Given the description of an element on the screen output the (x, y) to click on. 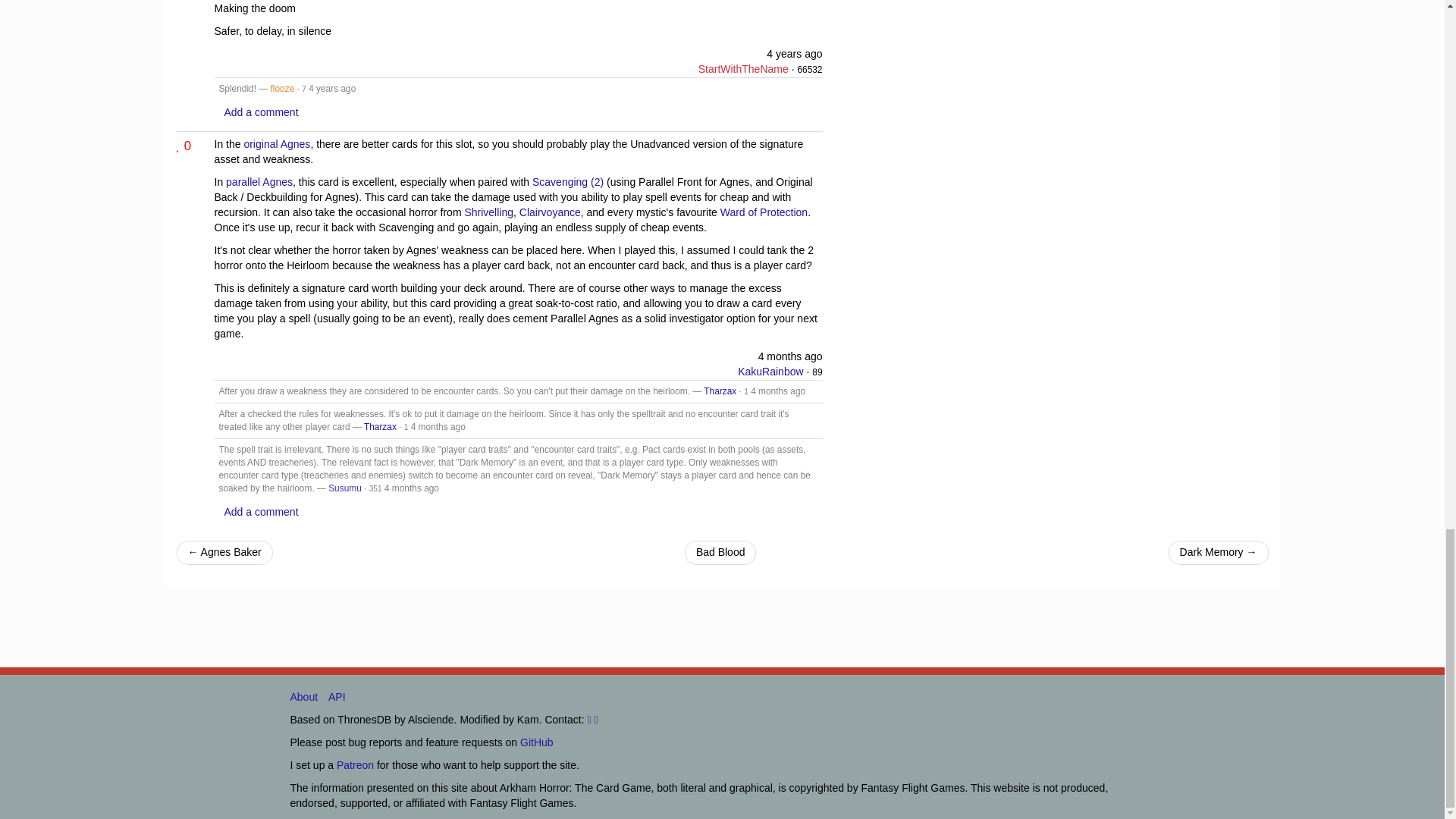
Monday, January 18, 2021 2:24 PM (331, 88)
User Reputation (375, 488)
Tuesday, April 2, 2024 12:26 PM (778, 390)
User Reputation (809, 69)
Monday, April 1, 2024 9:04 PM (790, 356)
User Reputation (817, 371)
Tuesday, April 2, 2024 1:53 PM (437, 426)
Sunday, December 27, 2020 8:30 PM (794, 53)
